Given the description of an element on the screen output the (x, y) to click on. 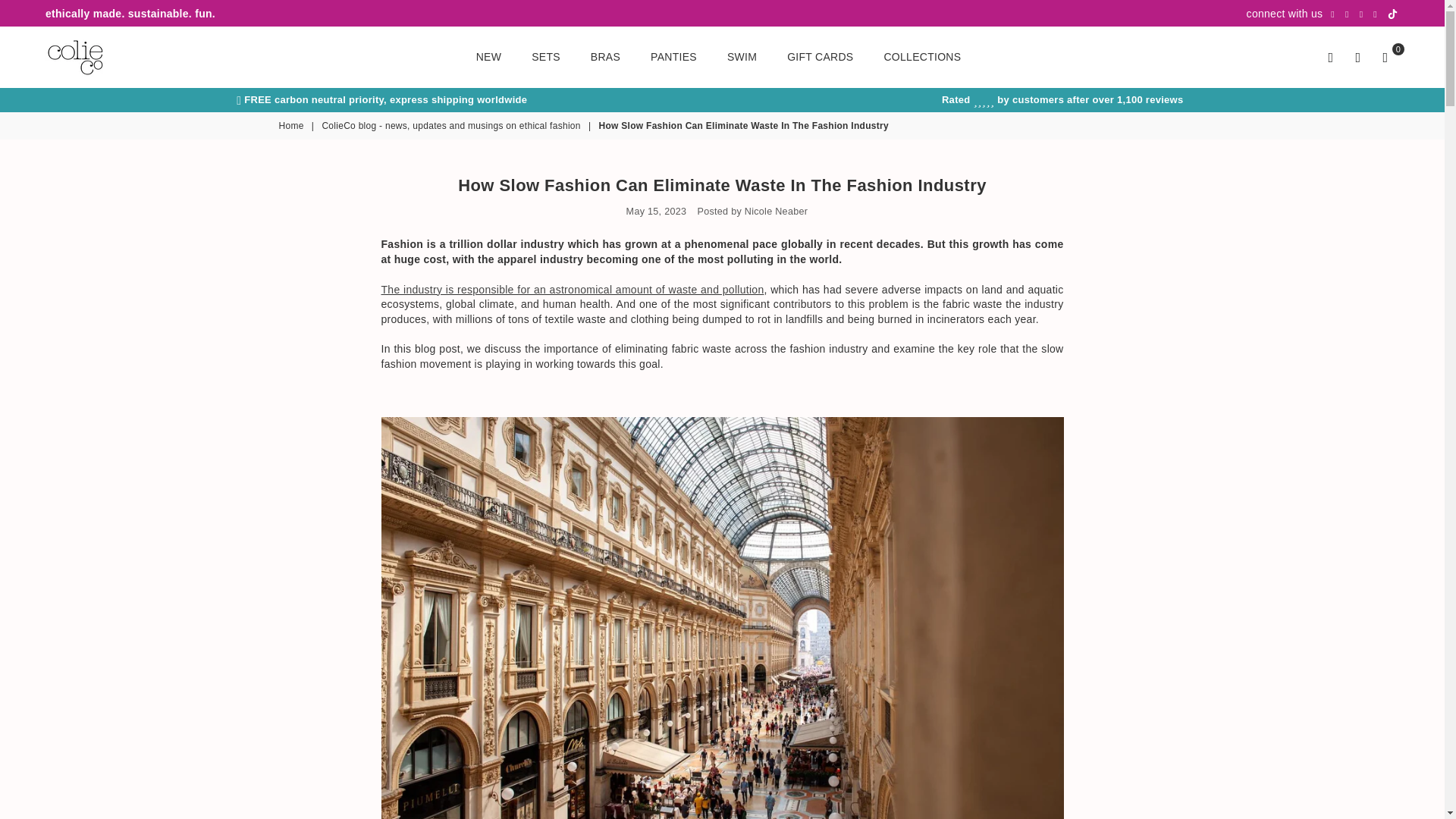
Instagram (1361, 13)
COLLECTIONS (922, 56)
GIFT CARDS (820, 56)
NEW (488, 56)
Facebook (1331, 13)
SETS (545, 56)
ColieCo on YouTube (1374, 13)
Cart (1385, 56)
ColieCo on Pinterest (1346, 13)
Wishlist (1357, 56)
BRAS (605, 56)
COLIECO (109, 56)
PANTIES (673, 56)
TikTok (1392, 13)
ColieCo on TikTok (1392, 13)
